Given the description of an element on the screen output the (x, y) to click on. 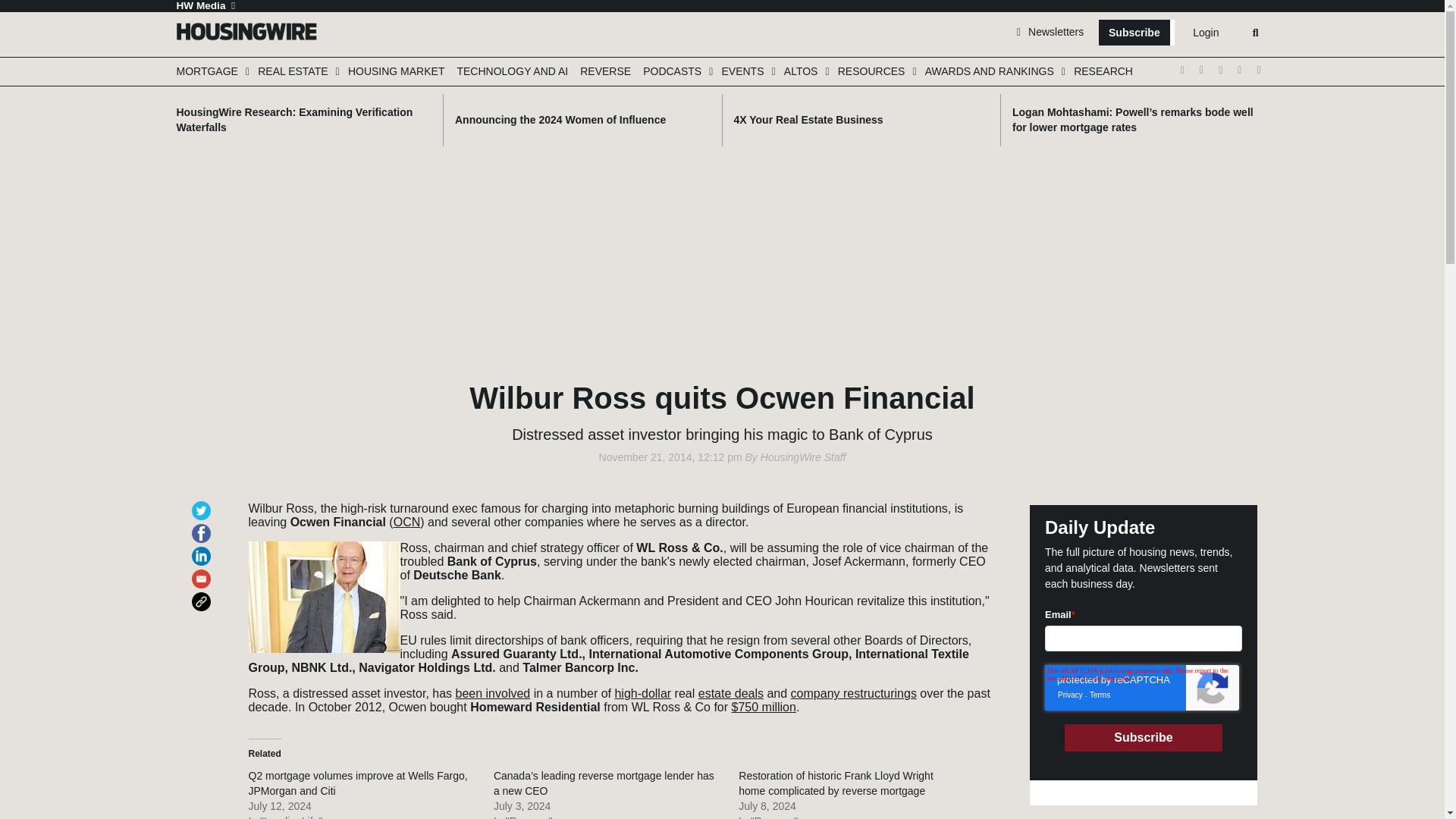
Login (1205, 32)
Click to email a link to a friend (203, 571)
Click to copy link (203, 594)
Posts by HousingWire Staff (802, 457)
Click to share on Twitter (203, 503)
Newsletters (1049, 31)
Click to share on LinkedIn (203, 549)
Click to share on Facebook (203, 526)
